Given the description of an element on the screen output the (x, y) to click on. 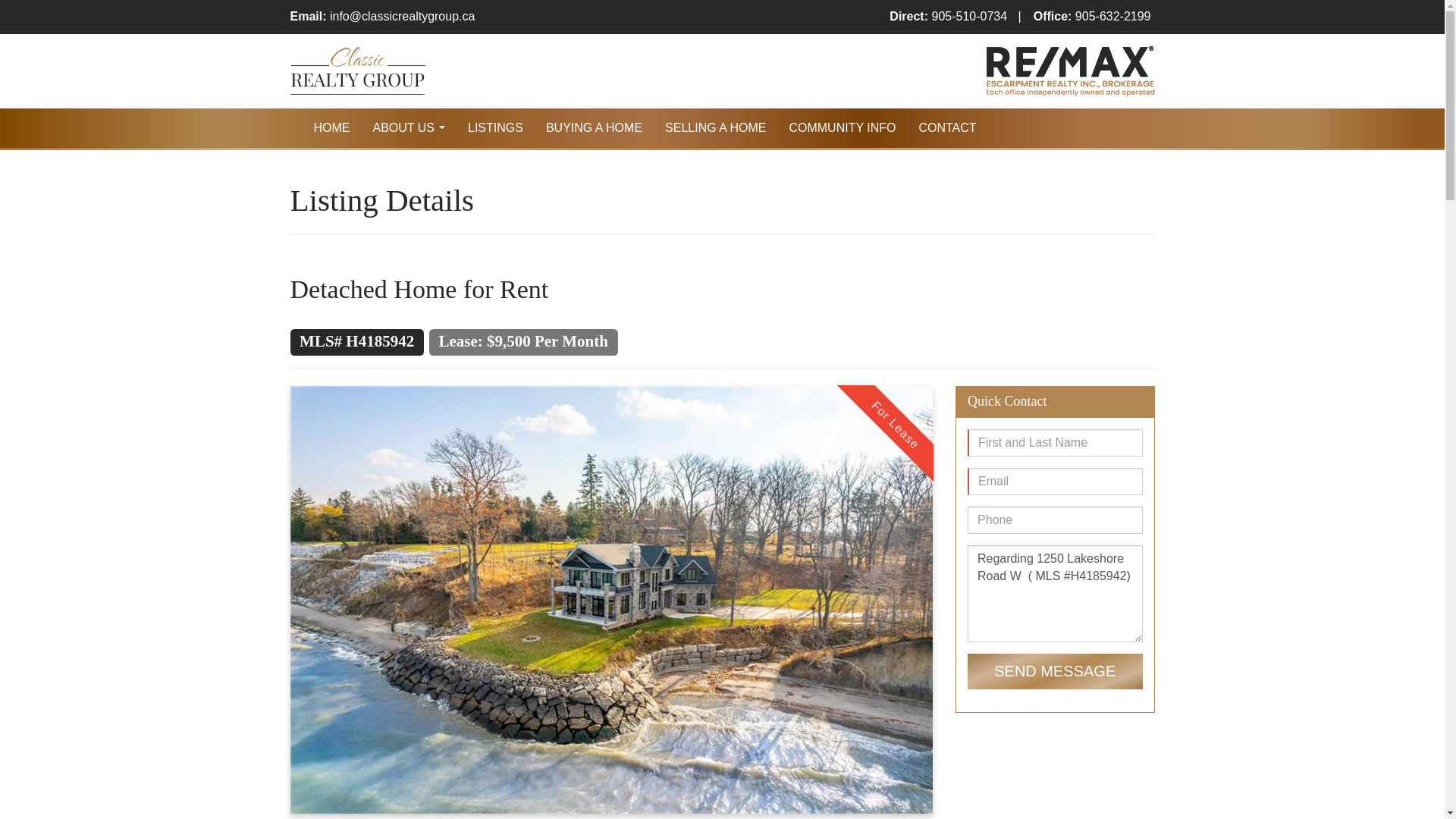
BUYING A HOME (593, 127)
ABOUT US... (409, 127)
905-510-0734 (969, 15)
Burlington Real Estate Listings (495, 127)
HOME (331, 127)
Burlington Community Info (842, 127)
SELLING A HOME (715, 127)
How to contact Classic Realty Group (947, 127)
Buying A Home (593, 127)
CONTACT (947, 127)
Selling Your Home (715, 127)
905-632-2199 (1113, 15)
Homepage (331, 127)
LISTINGS (495, 127)
